Given the description of an element on the screen output the (x, y) to click on. 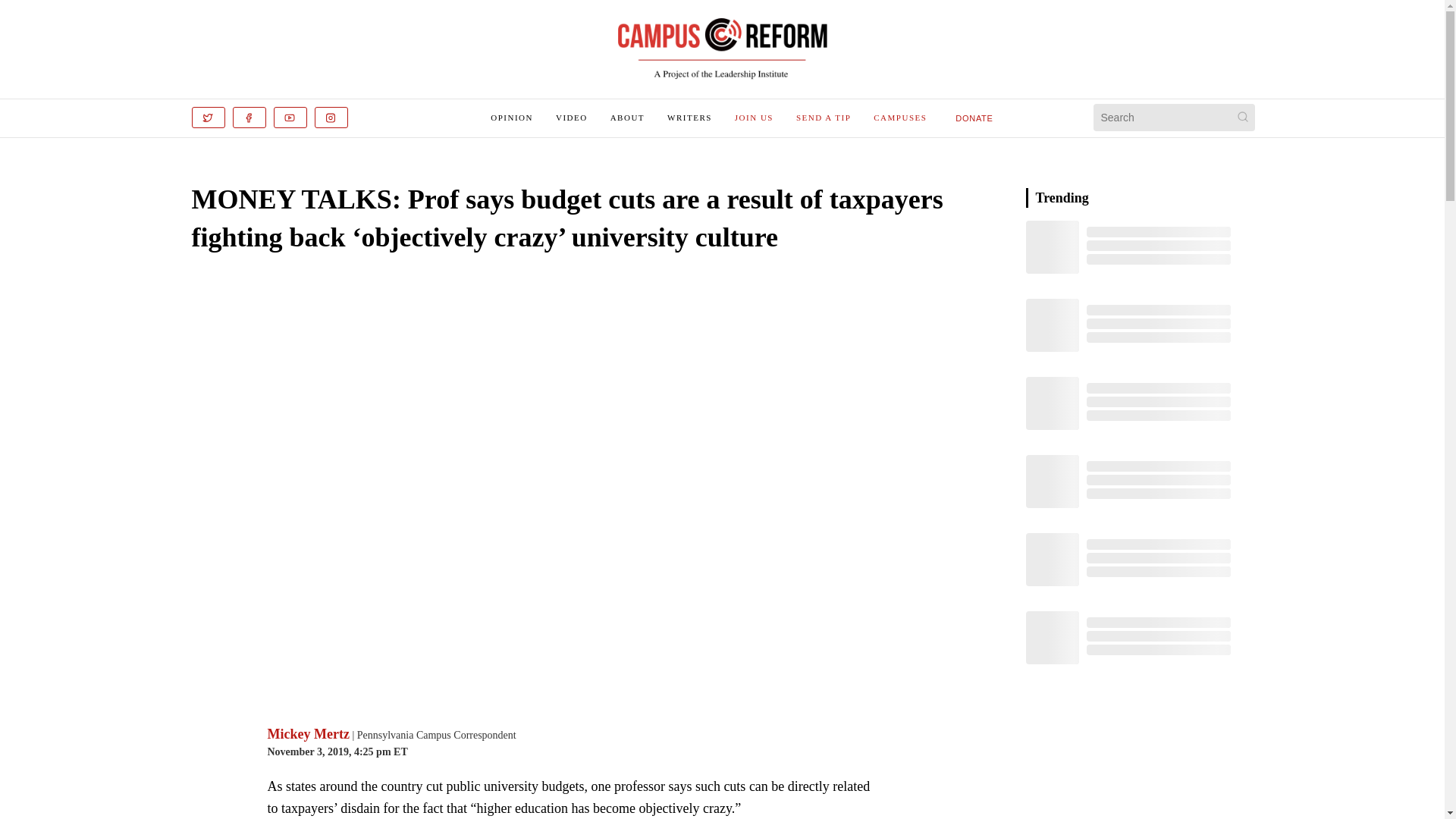
WRITERS (688, 117)
OPINION (511, 117)
JOIN US (754, 117)
DONATE (974, 117)
VIDEO (572, 117)
ABOUT (627, 117)
SEND A TIP (823, 117)
DONATE (974, 117)
CAMPUSES (899, 117)
